Given the description of an element on the screen output the (x, y) to click on. 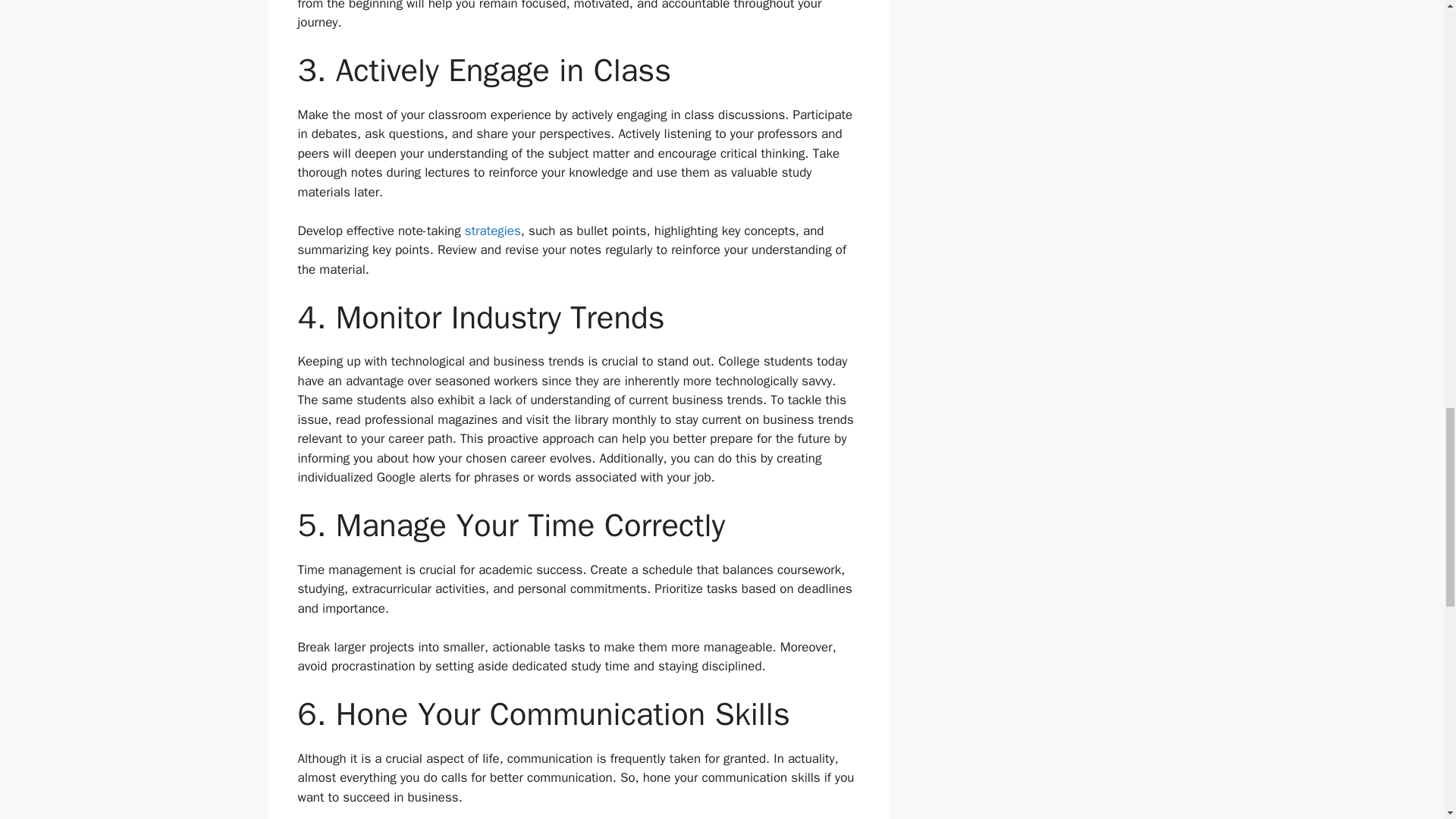
strategies (492, 230)
